Given the description of an element on the screen output the (x, y) to click on. 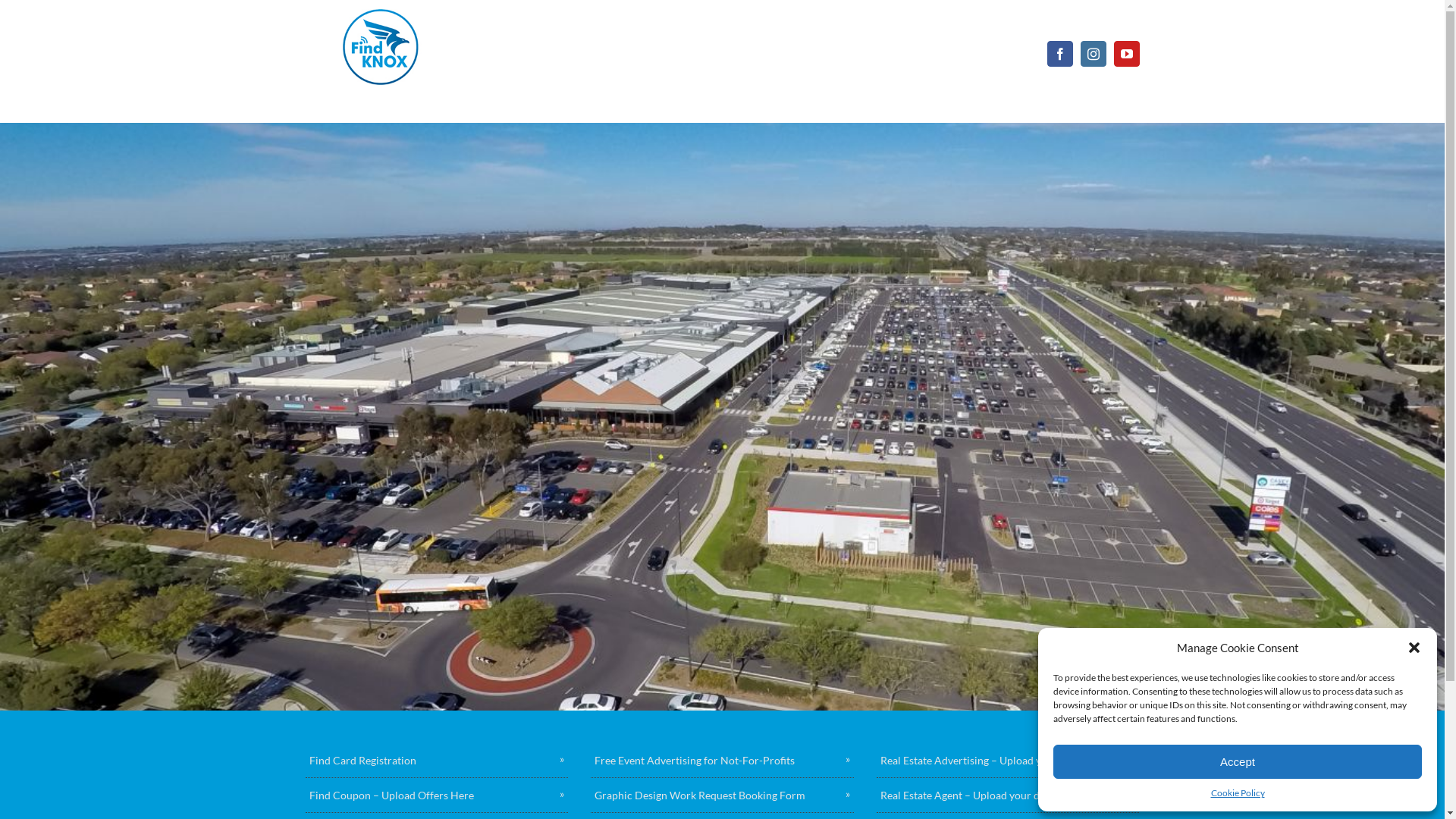
Cookie Policy Element type: text (1237, 793)
Accept Element type: text (1237, 761)
Free Event Advertising for Not-For-Profits Element type: text (721, 760)
Find Card Registration Element type: text (435, 760)
Graphic Design Work Request Booking Form Element type: text (721, 795)
